Given the description of an element on the screen output the (x, y) to click on. 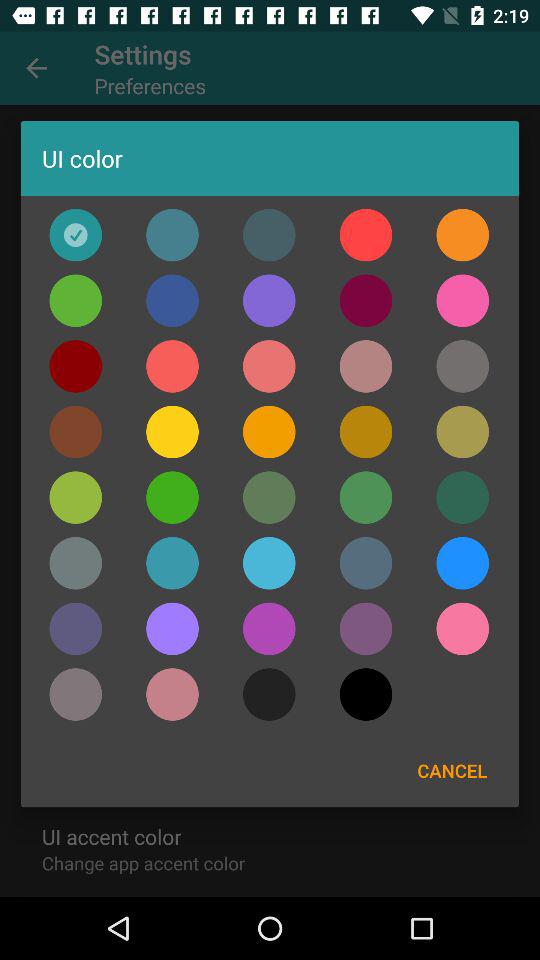
select blue-gray ui color (269, 234)
